Given the description of an element on the screen output the (x, y) to click on. 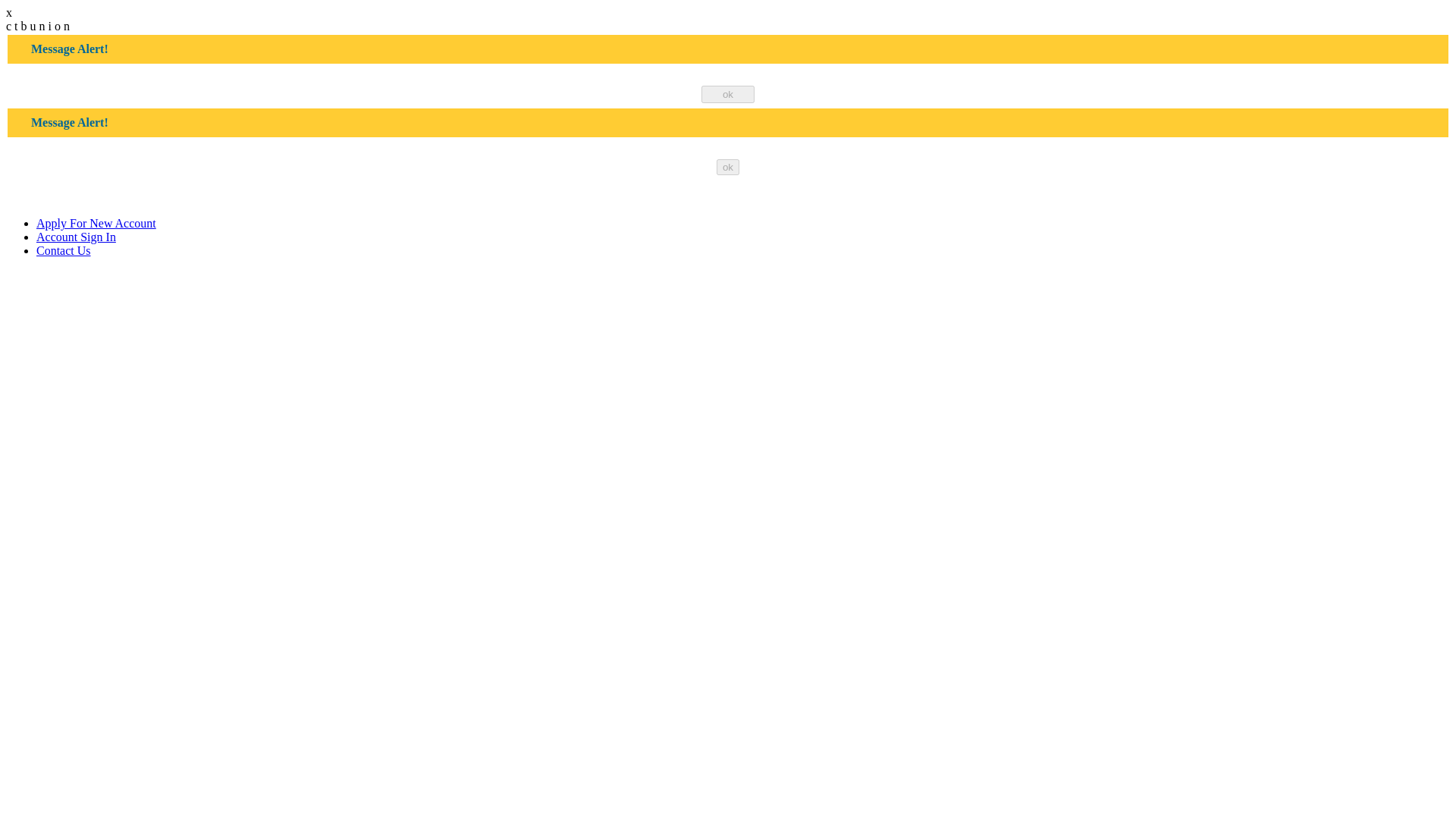
Apply For New Account (95, 223)
ok (727, 94)
ok (727, 166)
Account Sign In (76, 236)
